Given the description of an element on the screen output the (x, y) to click on. 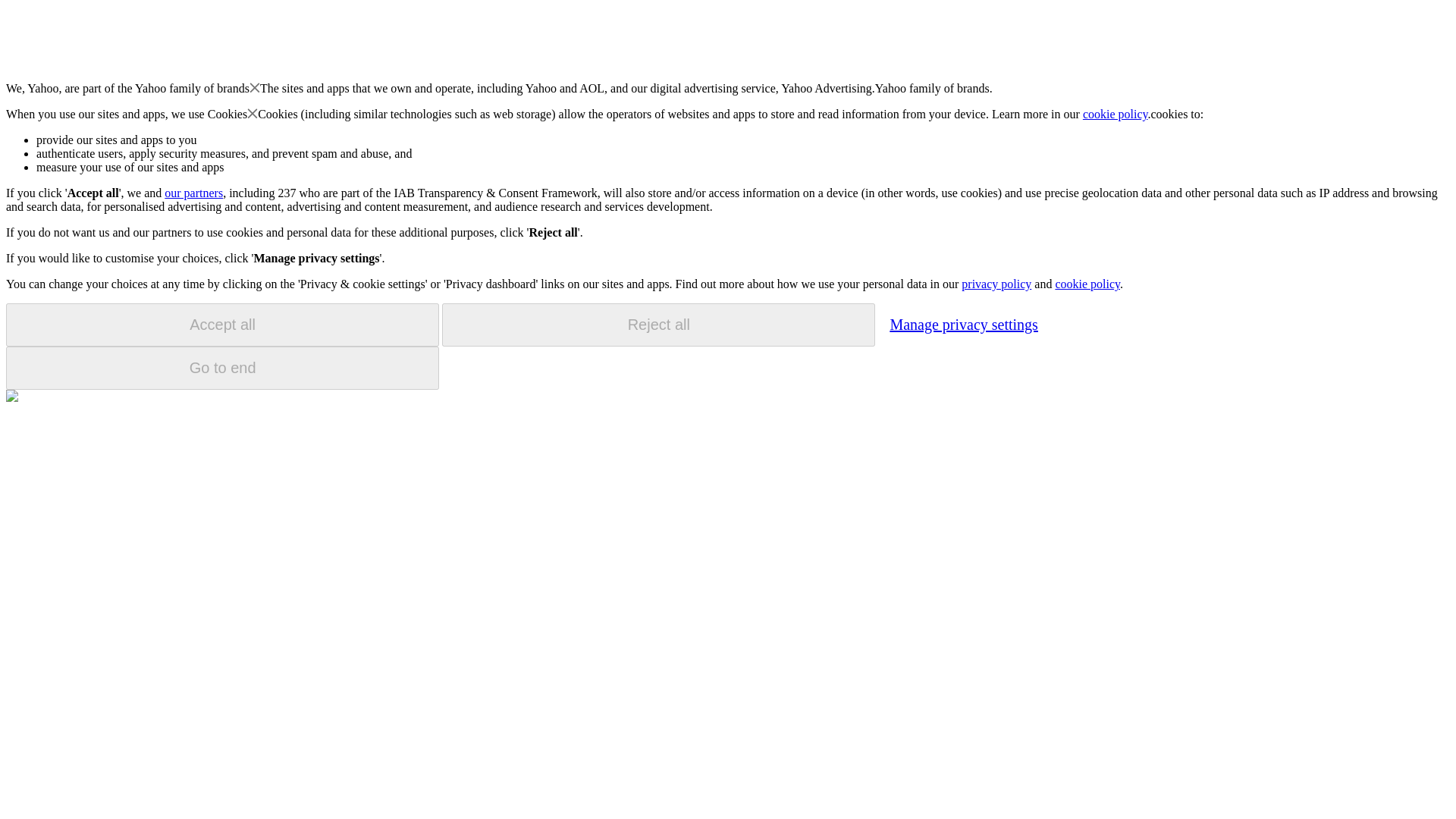
Accept all (222, 324)
Manage privacy settings (963, 323)
cookie policy (1115, 113)
Go to end (222, 367)
privacy policy (995, 283)
cookie policy (1086, 283)
our partners (193, 192)
Reject all (658, 324)
